Given the description of an element on the screen output the (x, y) to click on. 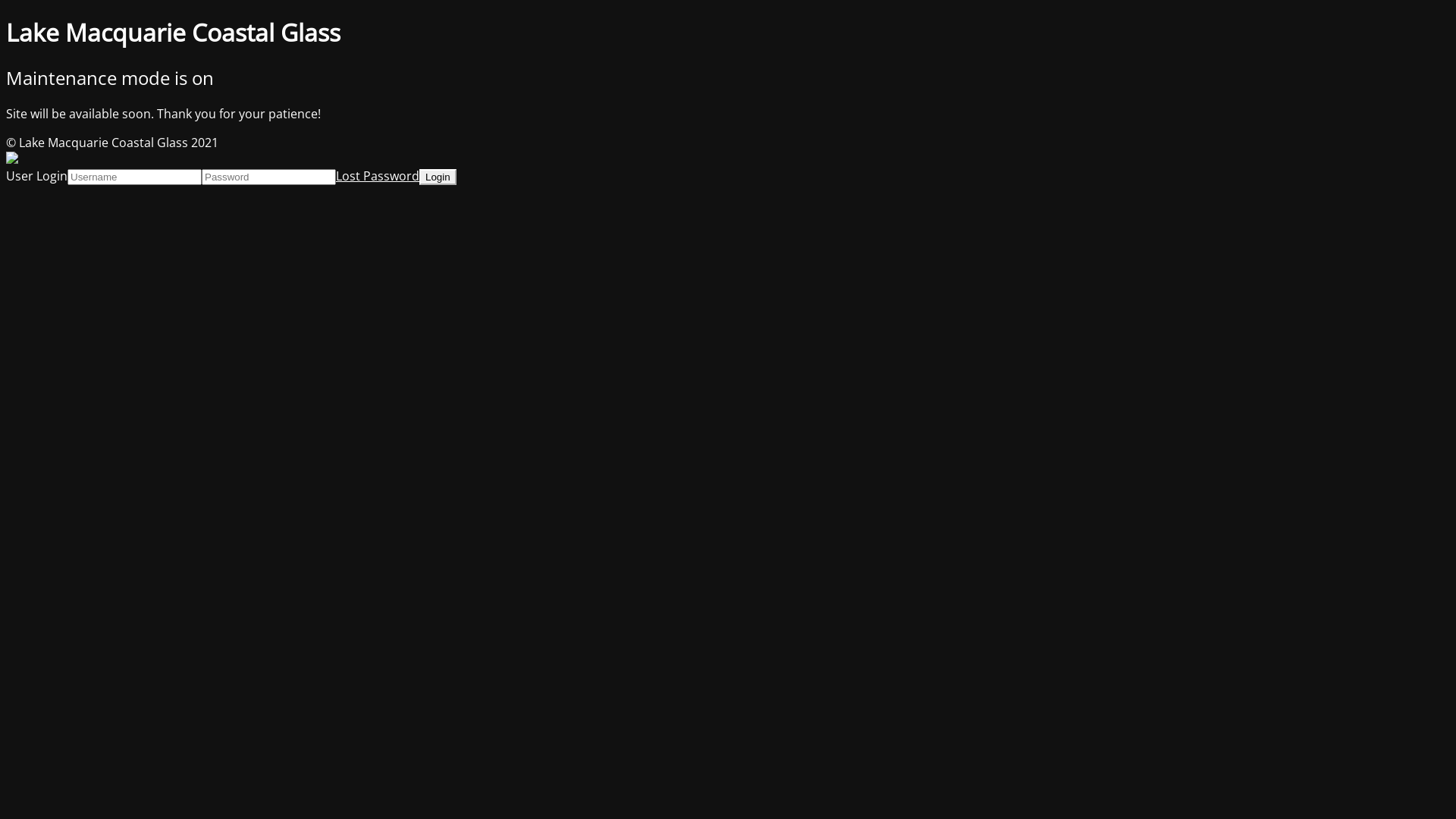
Login Element type: text (437, 177)
Lost Password Element type: text (377, 175)
